Given the description of an element on the screen output the (x, y) to click on. 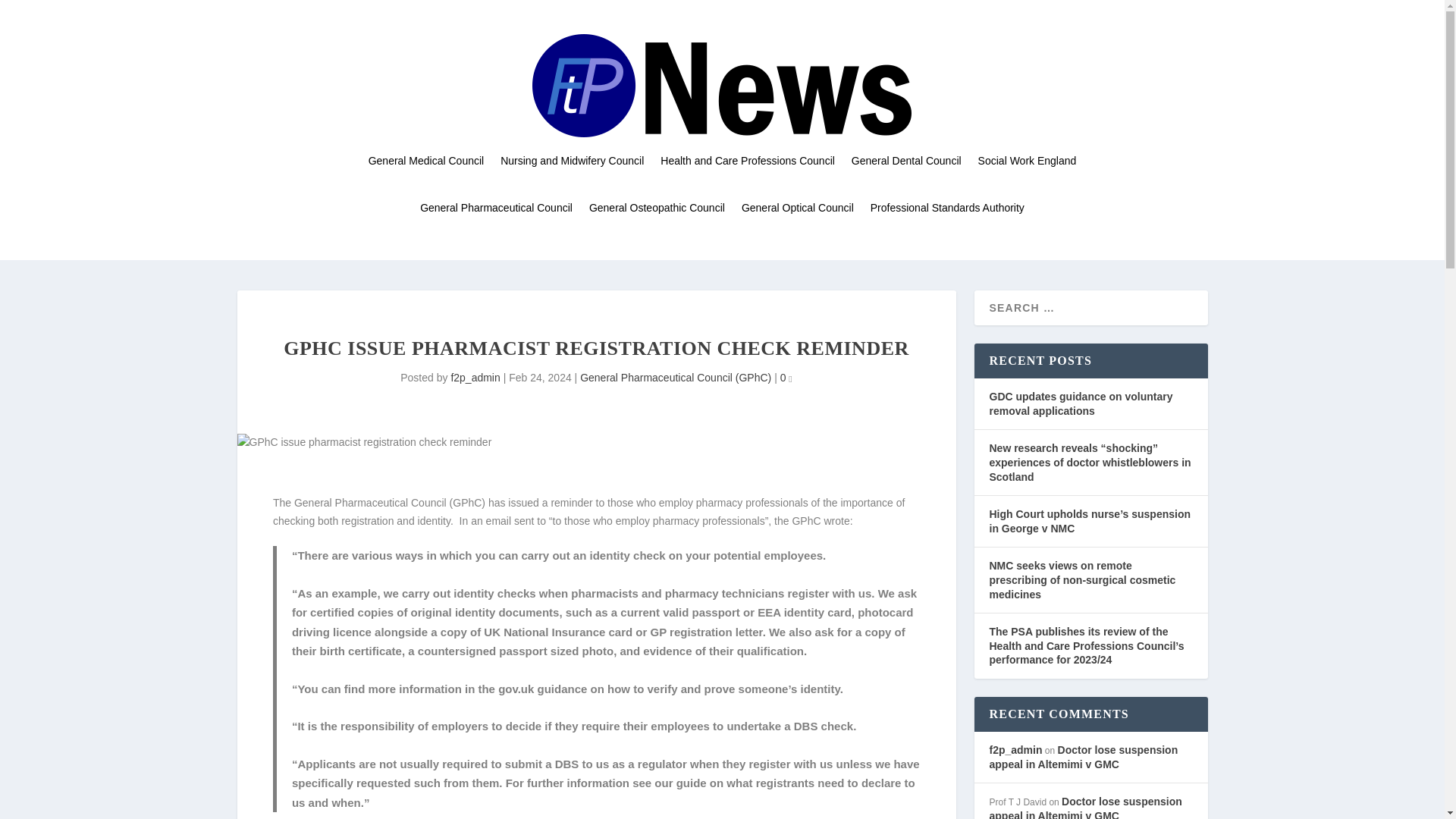
undertake a DBS check (789, 725)
Social Work England (1027, 160)
General Pharmaceutical Council (496, 207)
Professional Standards Authority (947, 207)
General Medical Council (426, 160)
Health and Care Professions Council (747, 160)
Nursing and Midwifery Council (571, 160)
General Dental Council (905, 160)
0 (786, 377)
General Osteopathic Council (657, 207)
